Given the description of an element on the screen output the (x, y) to click on. 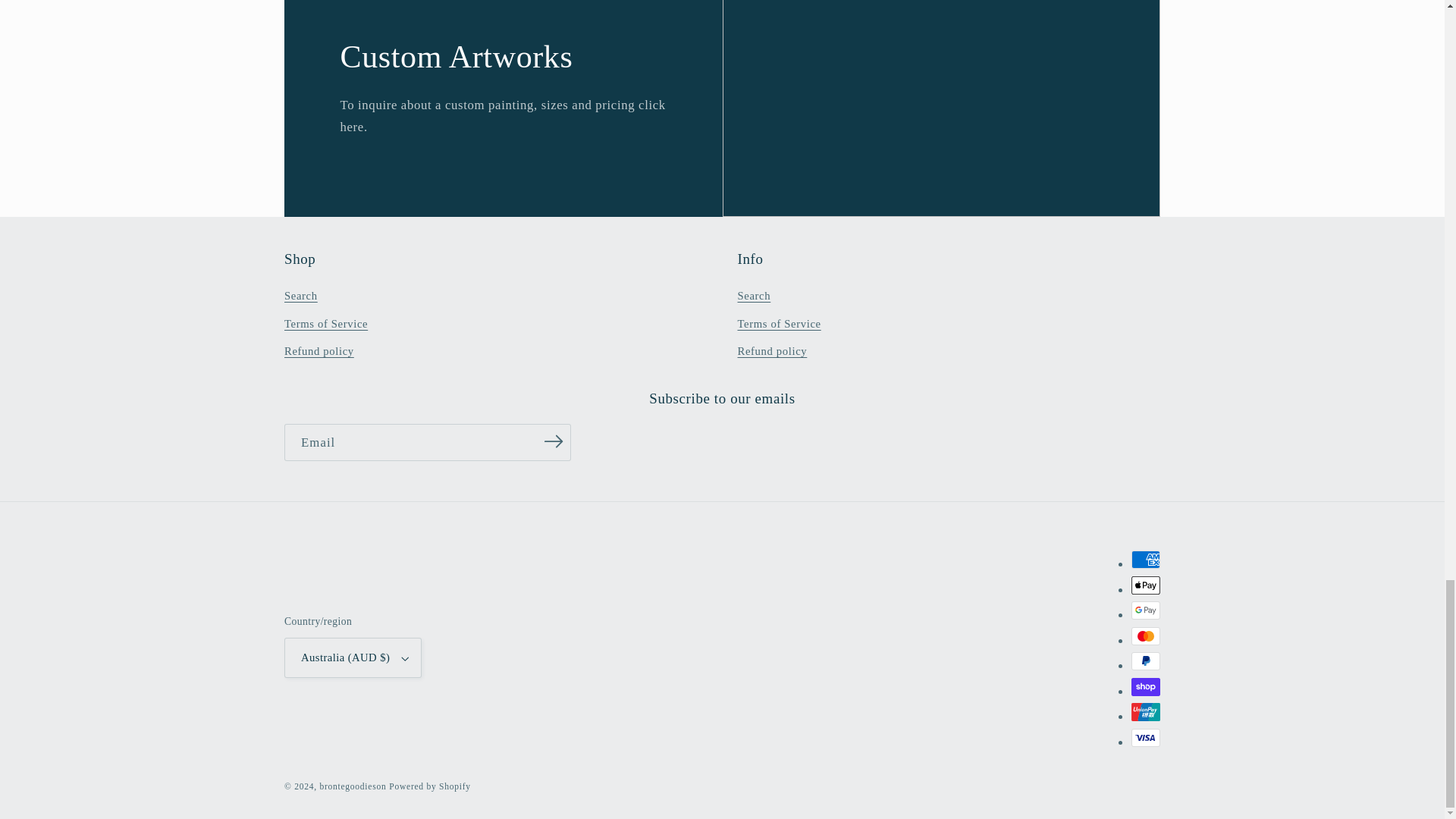
Mastercard (1145, 636)
Shop Pay (1145, 687)
Union Pay (1145, 711)
American Express (1145, 559)
Google Pay (1145, 610)
PayPal (1145, 660)
Visa (1145, 737)
Apple Pay (1145, 585)
